Given the description of an element on the screen output the (x, y) to click on. 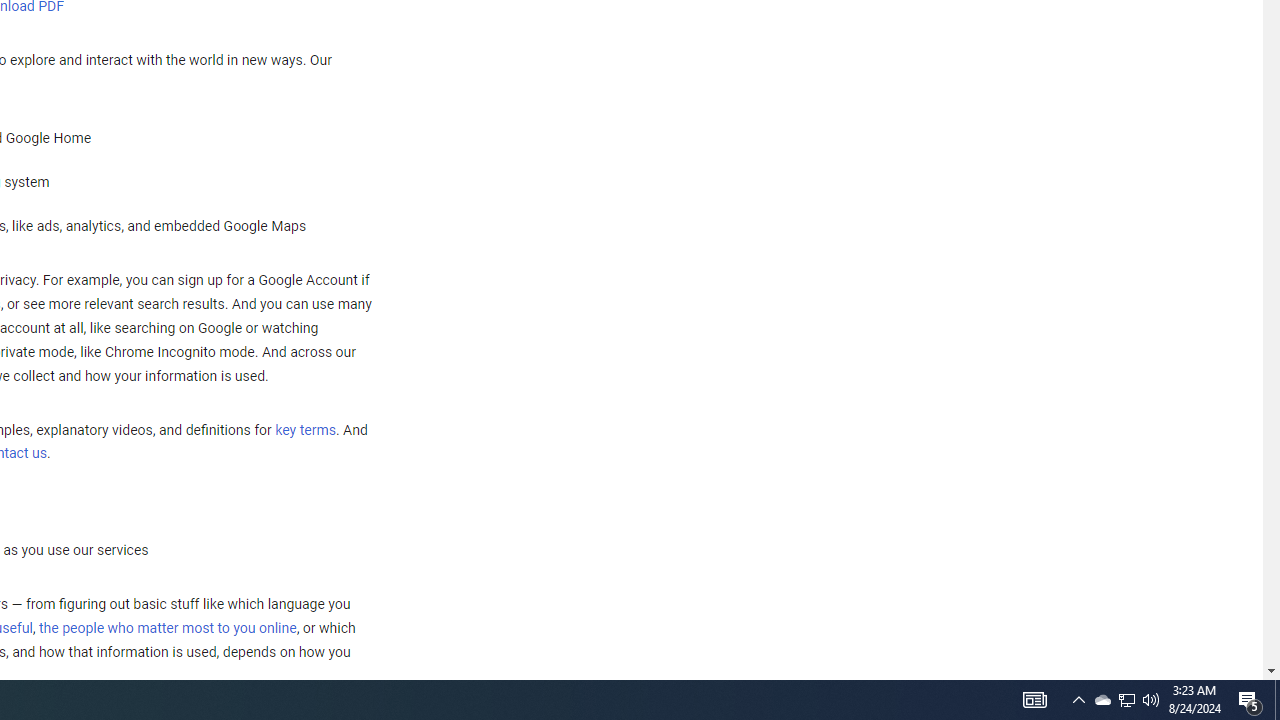
key terms (305, 430)
the people who matter most to you online (167, 628)
